Given the description of an element on the screen output the (x, y) to click on. 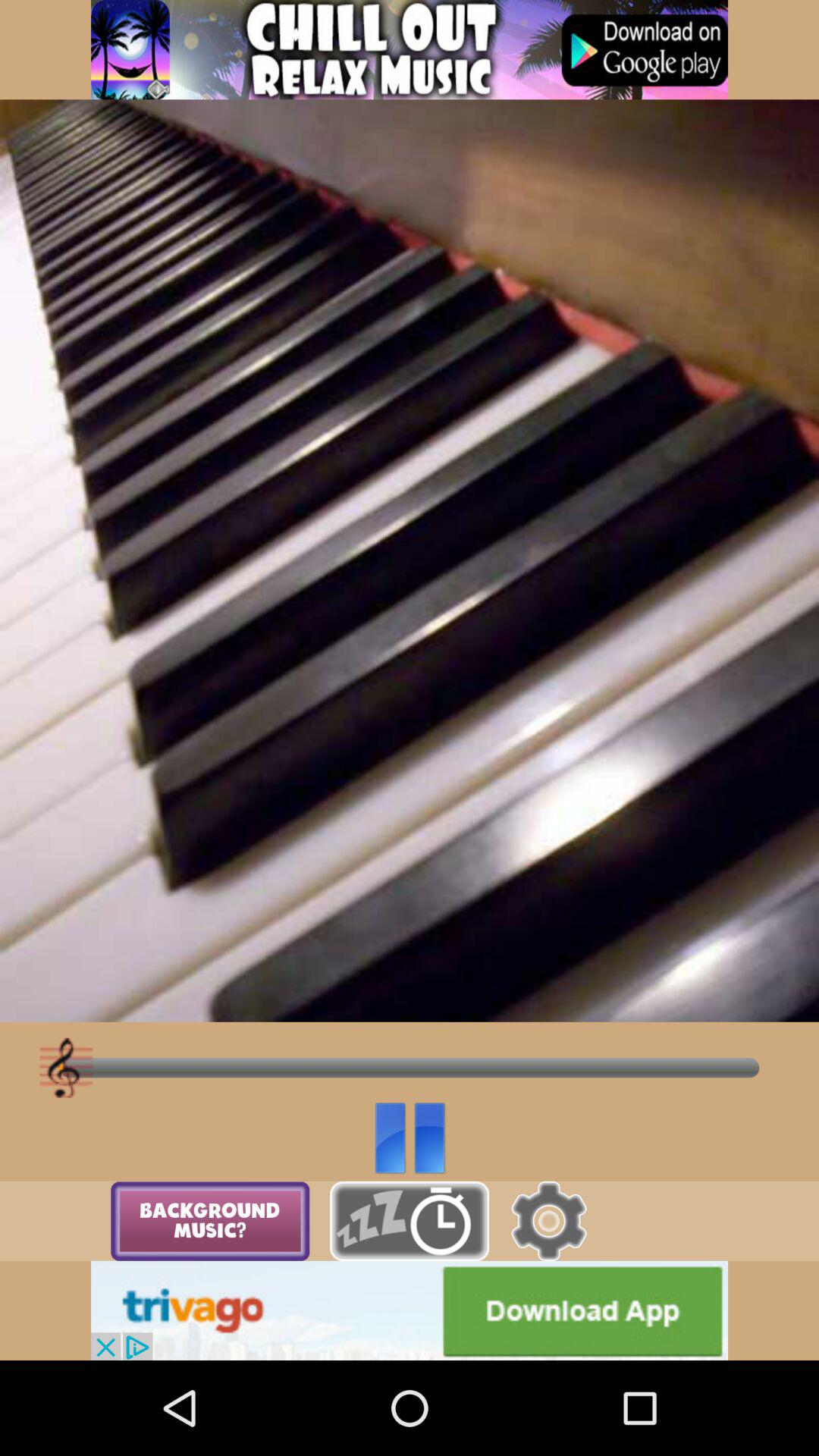
piano keyboard (409, 1220)
